Given the description of an element on the screen output the (x, y) to click on. 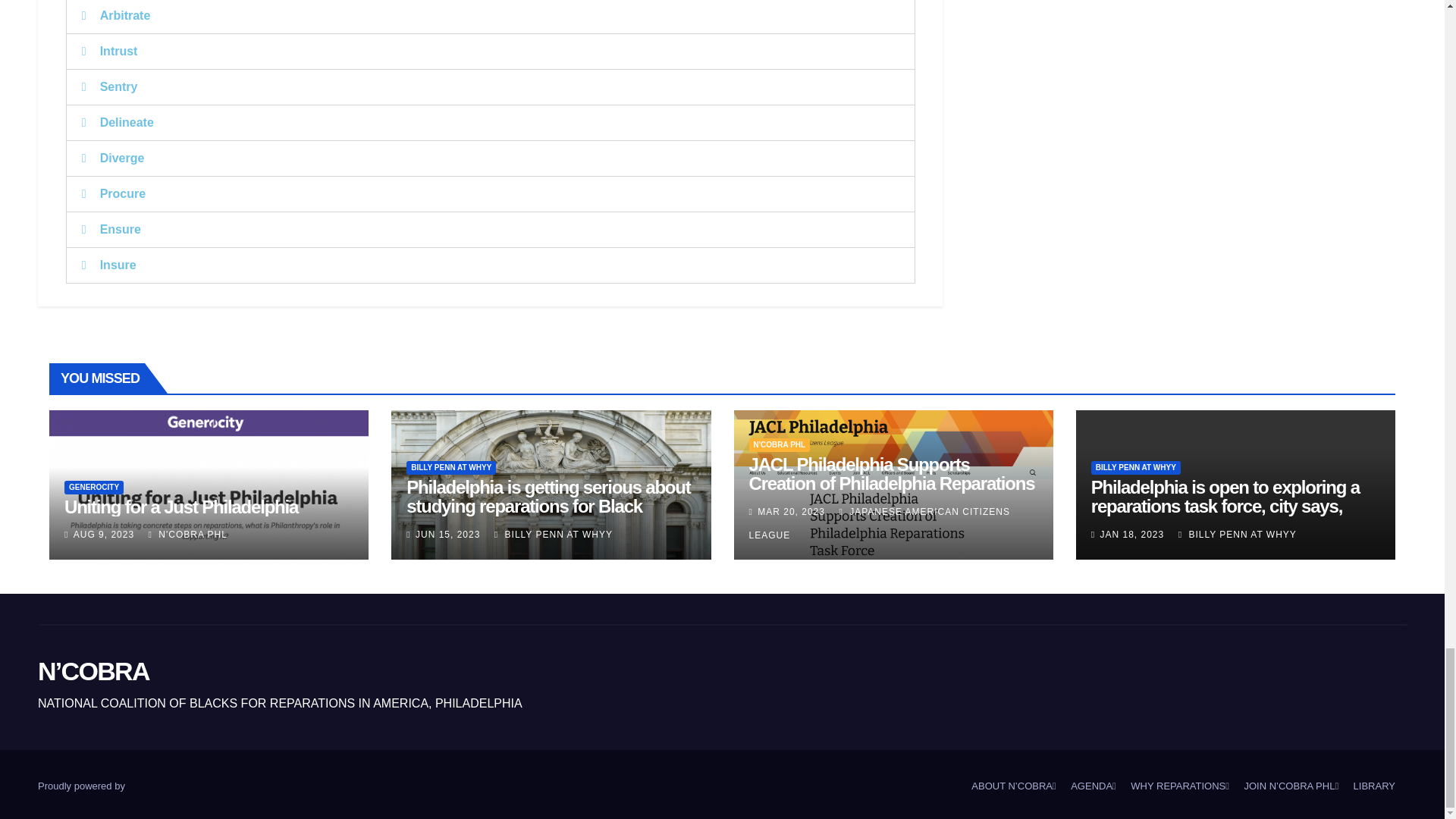
Permalink to: Uniting for a Just Philadelphia (181, 506)
